Given the description of an element on the screen output the (x, y) to click on. 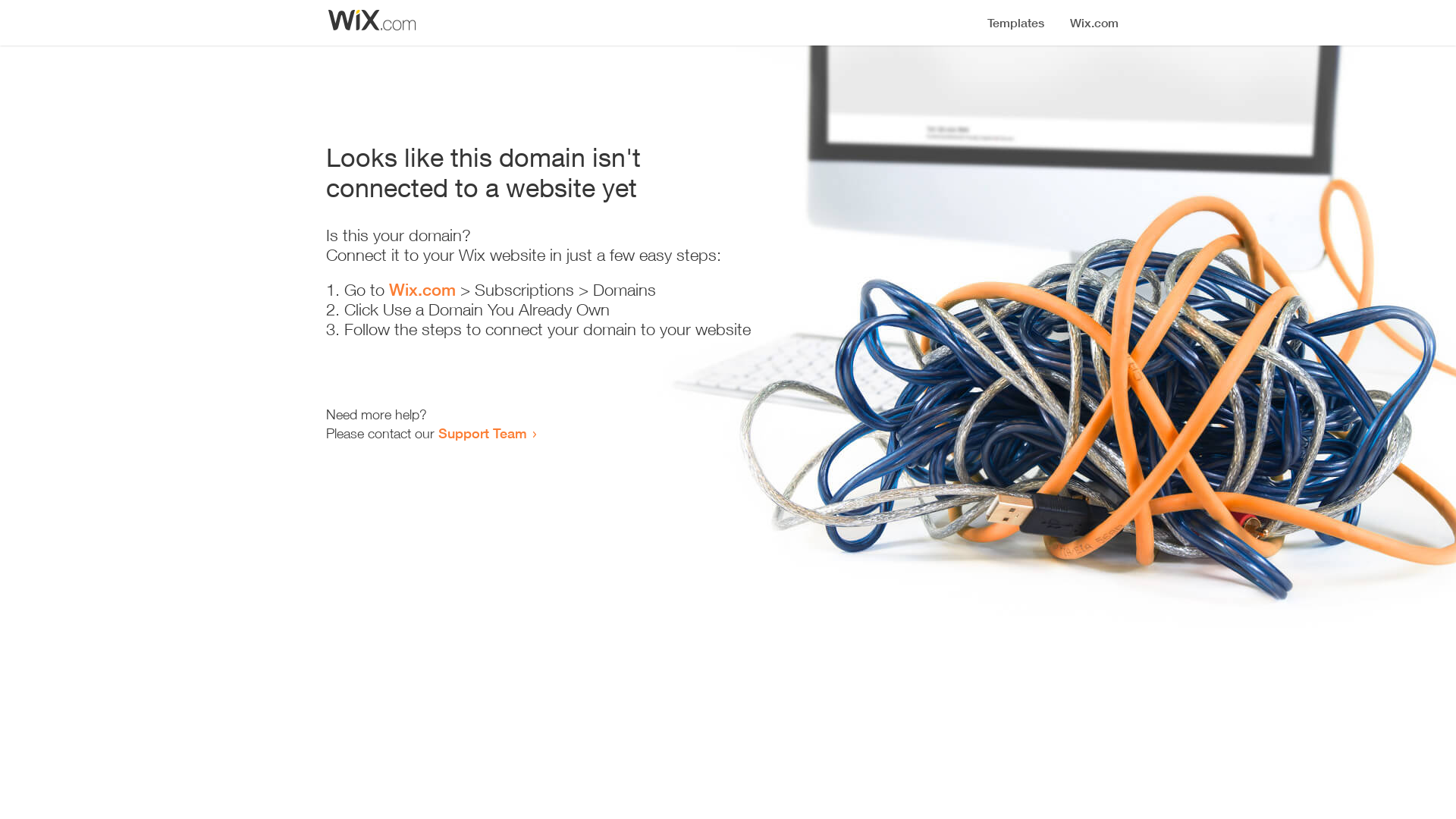
Support Team Element type: text (482, 432)
Wix.com Element type: text (422, 289)
